Given the description of an element on the screen output the (x, y) to click on. 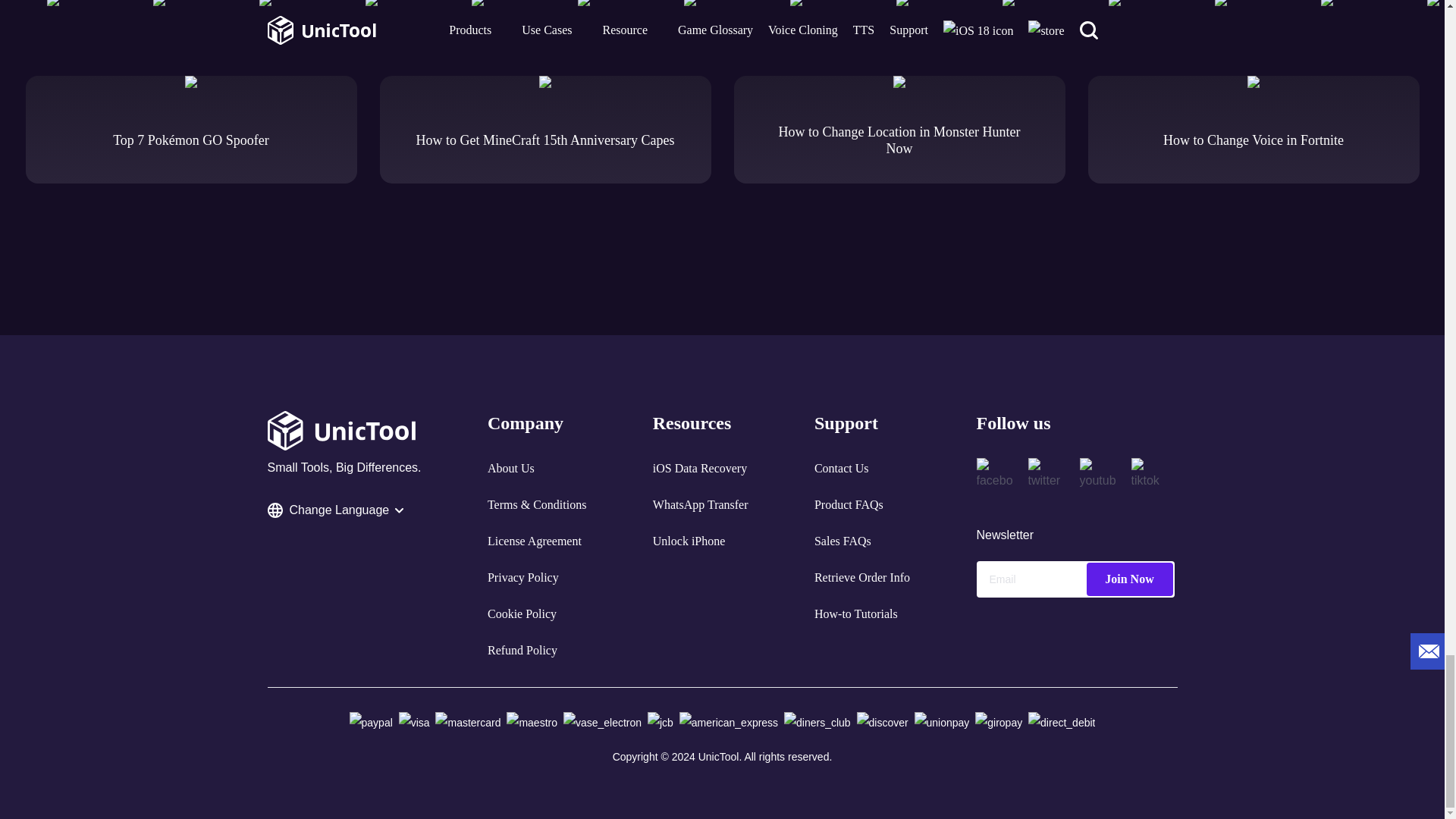
facebook (994, 475)
tiktok (1149, 475)
youtube (1098, 475)
twitter (1045, 475)
